Given the description of an element on the screen output the (x, y) to click on. 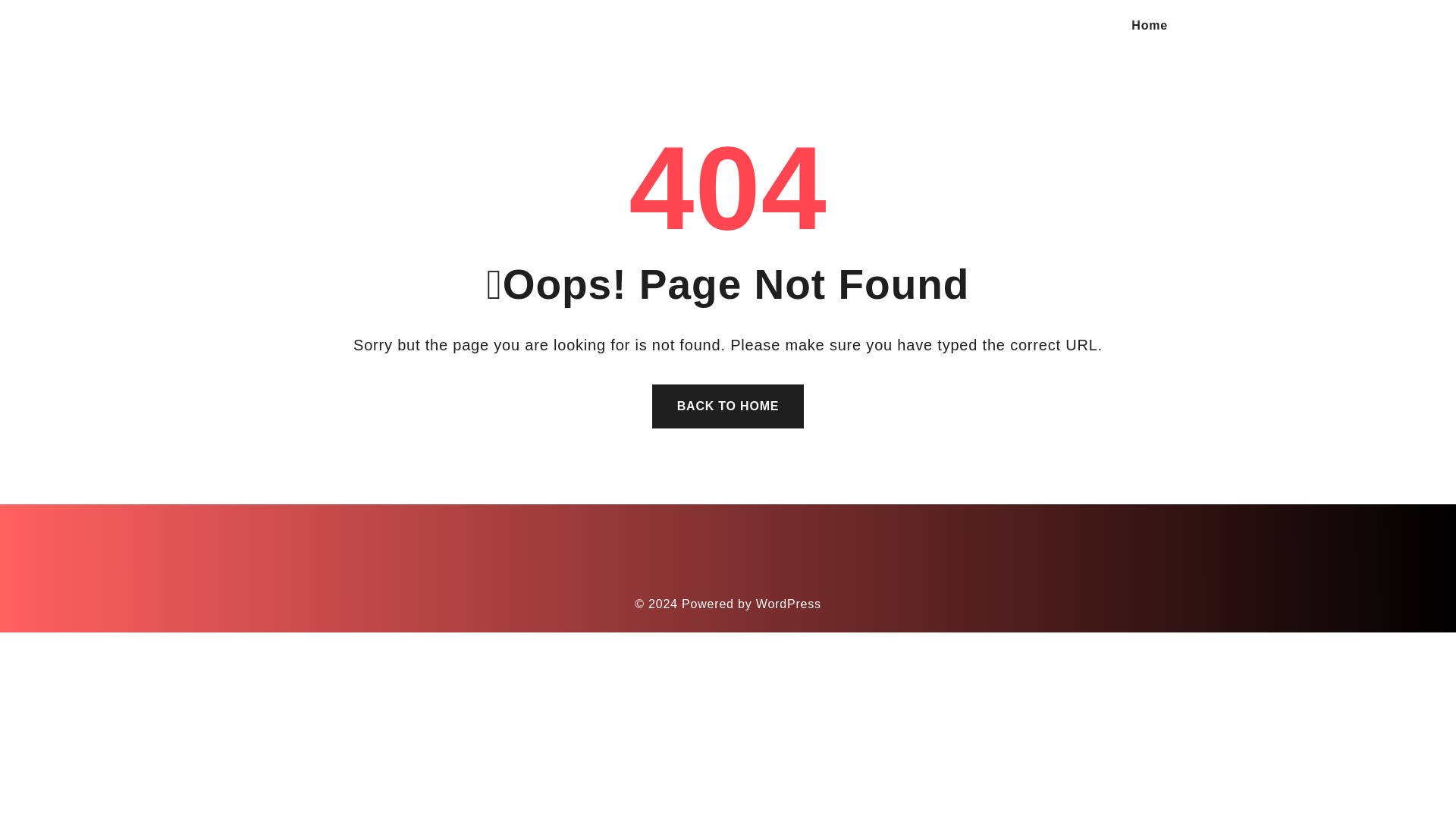
Home (1149, 25)
BACK TO HOME (727, 406)
Home (1149, 25)
